Given the description of an element on the screen output the (x, y) to click on. 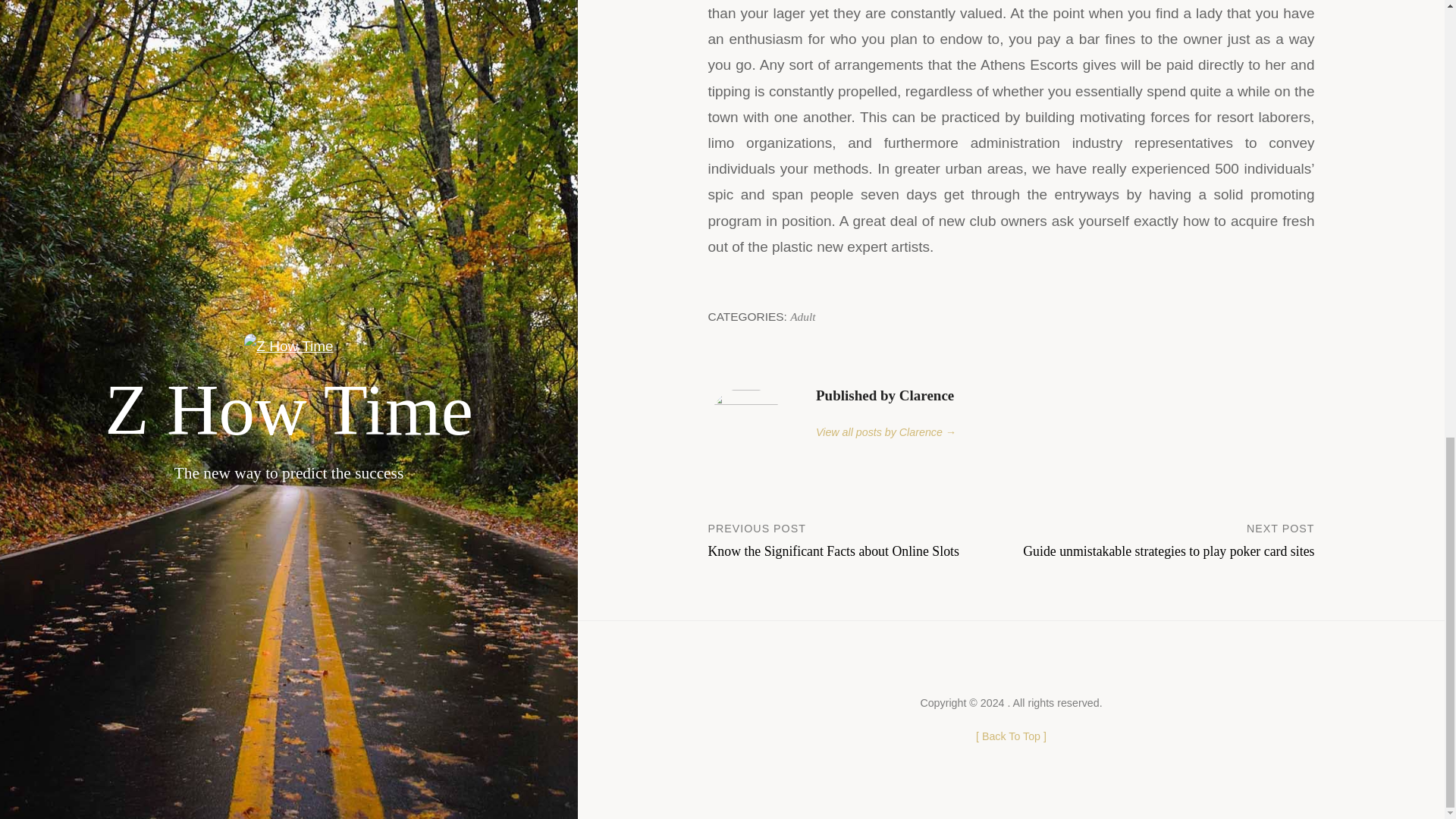
Back To Top (1010, 736)
Adult (859, 539)
